Given the description of an element on the screen output the (x, y) to click on. 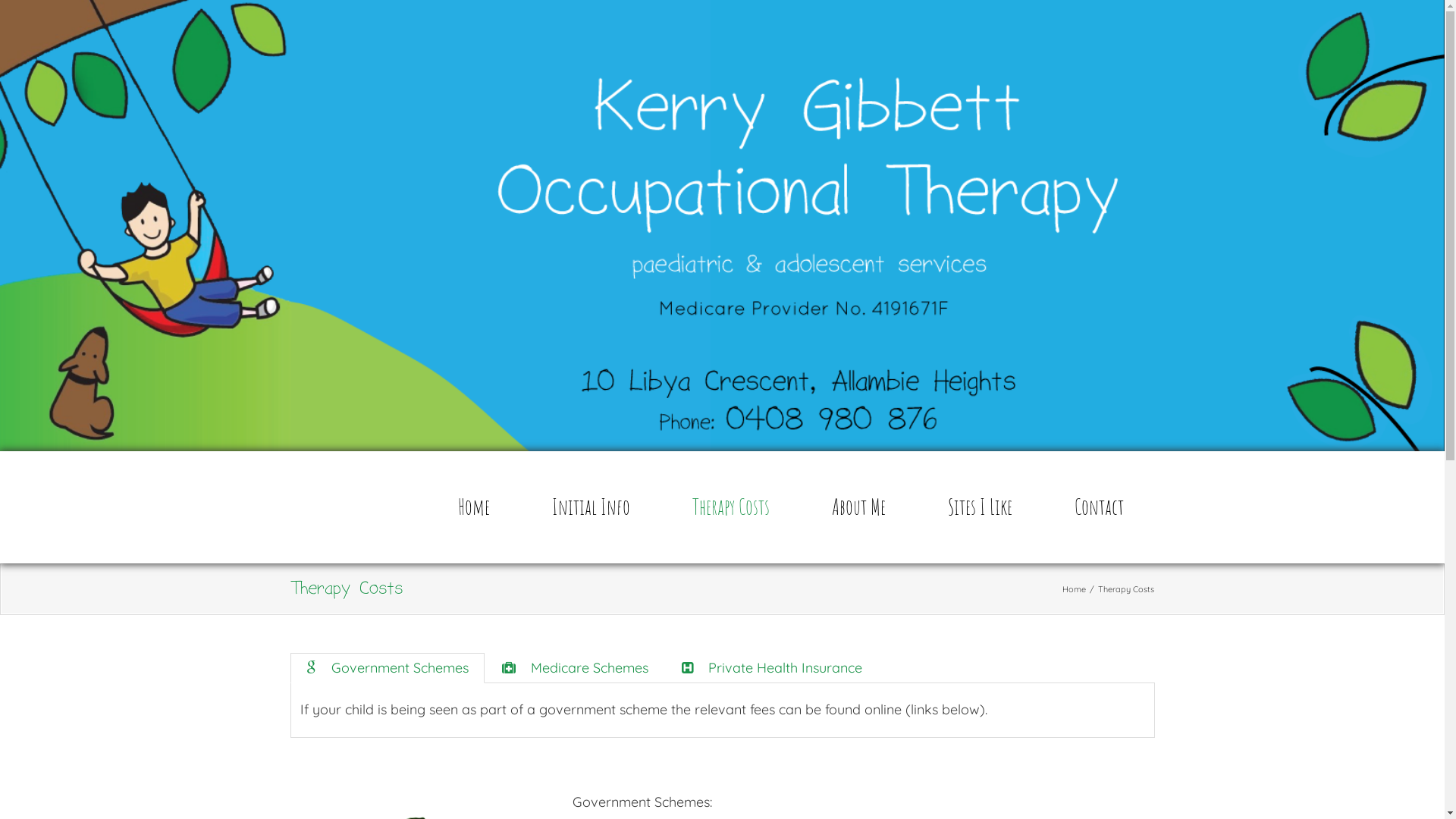
Private Health Insurance Element type: text (771, 667)
Medicare Schemes Element type: text (574, 667)
Therapy Costs Element type: text (730, 507)
Home Element type: text (473, 507)
About Me Element type: text (858, 507)
Initial Info Element type: text (590, 507)
Government Schemes Element type: text (386, 667)
Contact Element type: text (1098, 507)
Home Element type: text (1073, 588)
Sites I Like Element type: text (979, 507)
